Given the description of an element on the screen output the (x, y) to click on. 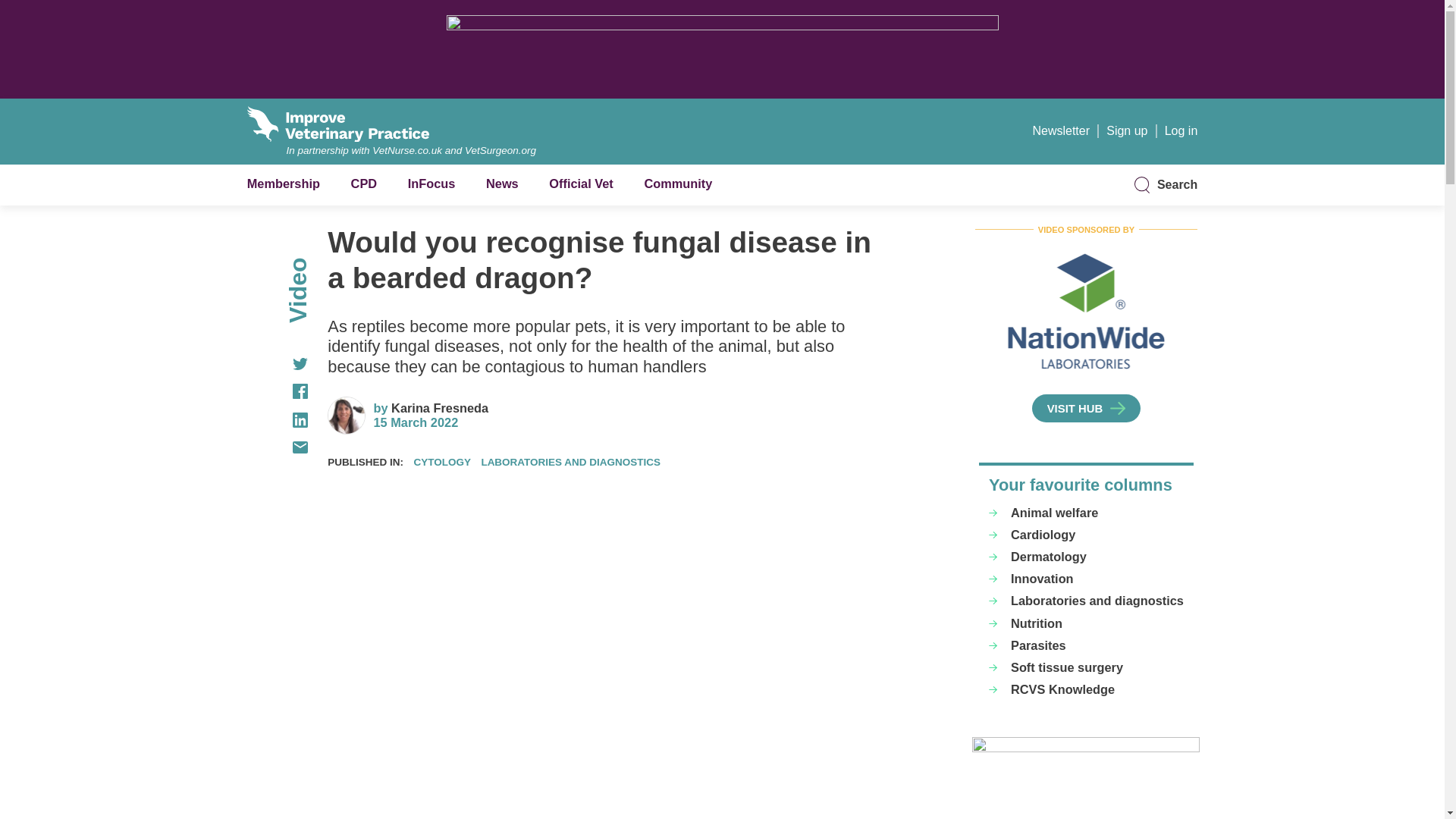
NationWide Laboratories (1086, 311)
Sign up (1126, 130)
Cytology (441, 461)
Membership (283, 183)
Share on Twitter (277, 363)
Log in (1181, 130)
karina-fresneda (439, 407)
CPD (363, 183)
News (502, 183)
Community (677, 183)
Newsletter (1060, 130)
Share on LinkedIn (277, 419)
Official Vet (580, 183)
Karina Fresneda (439, 407)
